Given the description of an element on the screen output the (x, y) to click on. 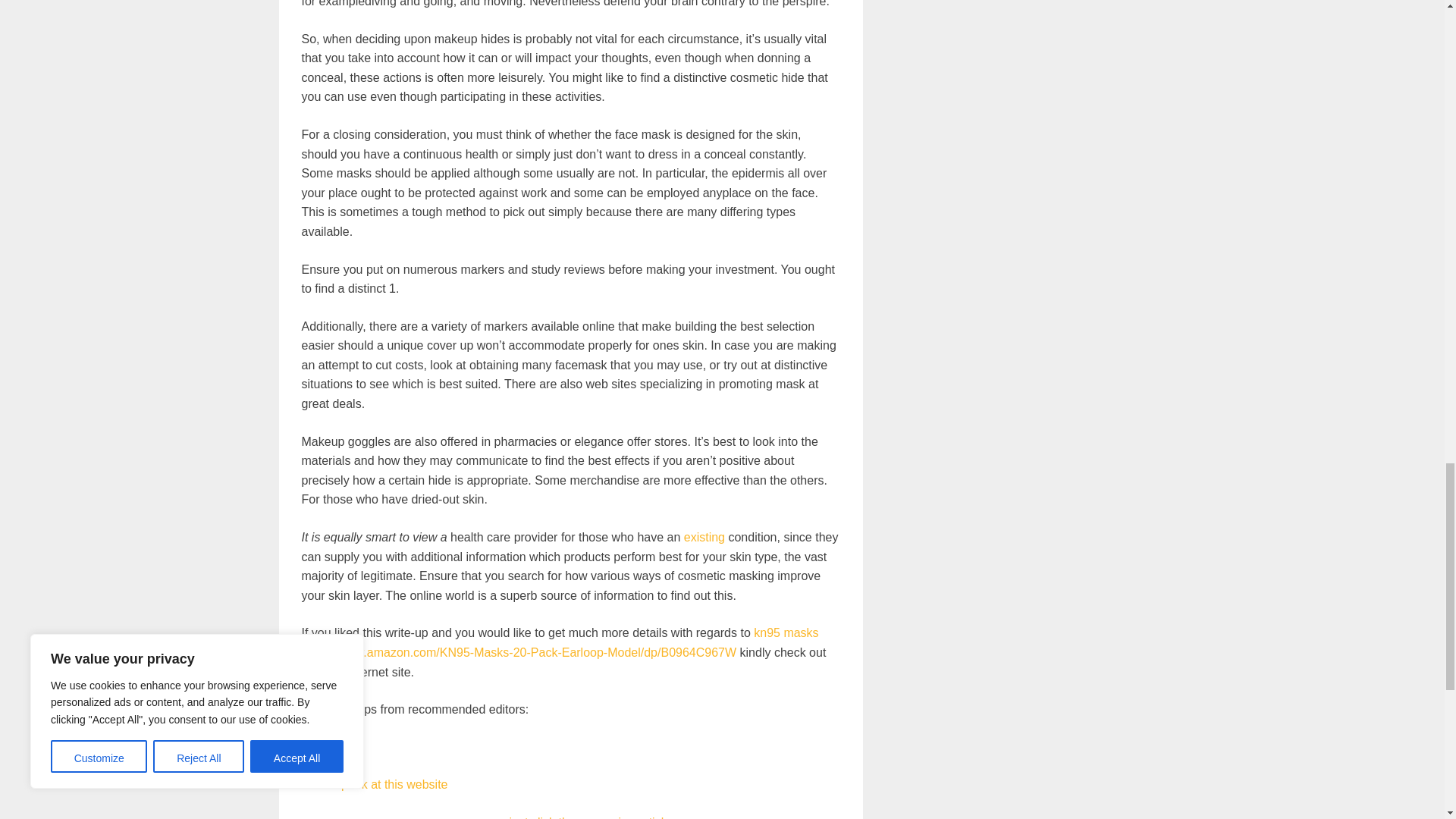
Learn here (330, 747)
just click the up coming article (590, 817)
have a peek at this website (374, 784)
existing (704, 536)
